Given the description of an element on the screen output the (x, y) to click on. 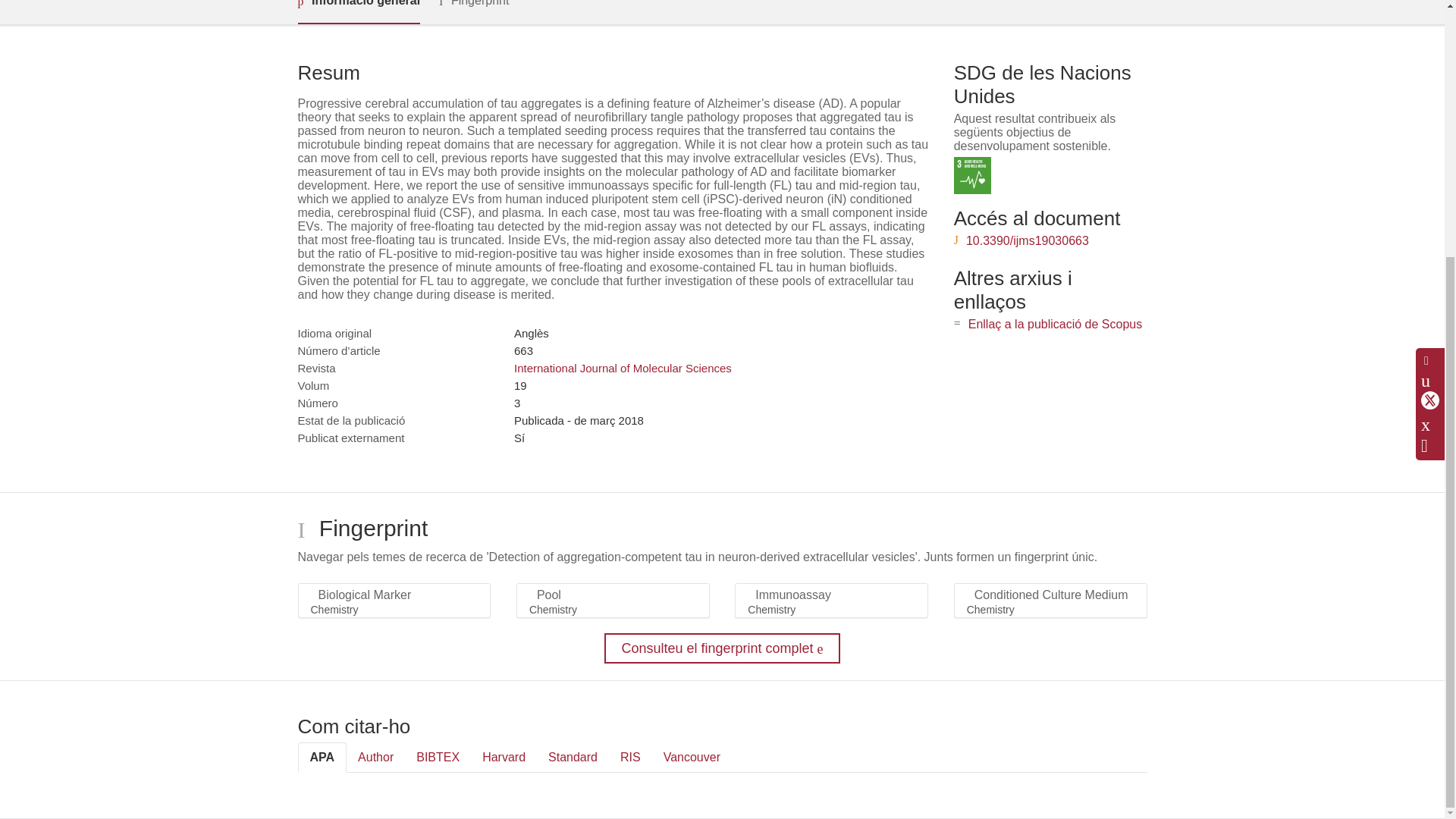
ODS 3 - Salut i benestar (972, 175)
International Journal of Molecular Sciences (622, 367)
Consulteu el fingerprint complet (722, 648)
Fingerprint (473, 11)
